Given the description of an element on the screen output the (x, y) to click on. 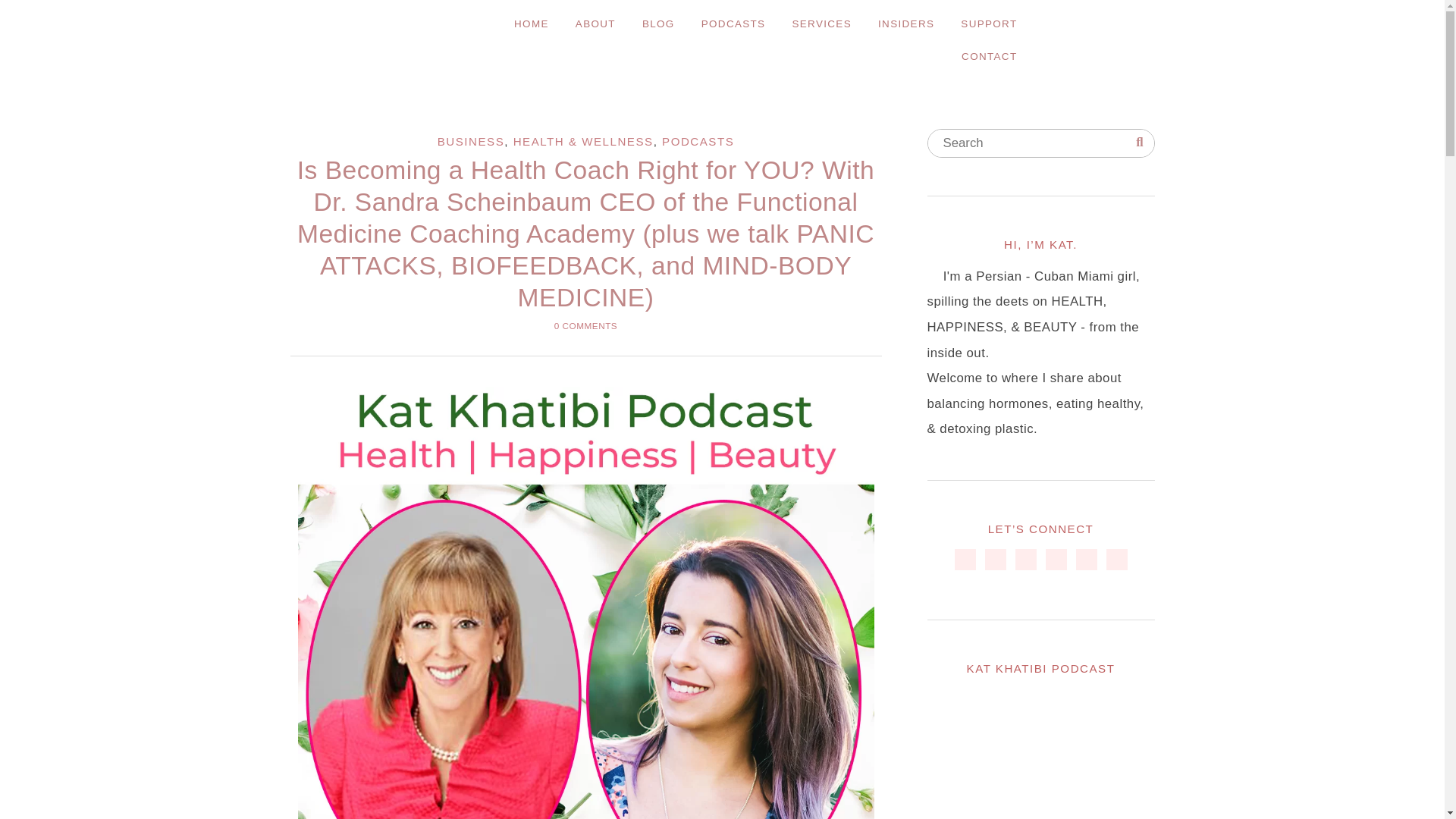
PODCASTS (733, 23)
BLOG (657, 23)
PODCASTS (697, 141)
0 COMMENTS (585, 325)
INSIDERS (905, 23)
ABOUT (595, 23)
HOME (531, 23)
SERVICES (820, 23)
BUSINESS (471, 141)
CONTACT (988, 56)
SUPPORT (988, 23)
